Given the description of an element on the screen output the (x, y) to click on. 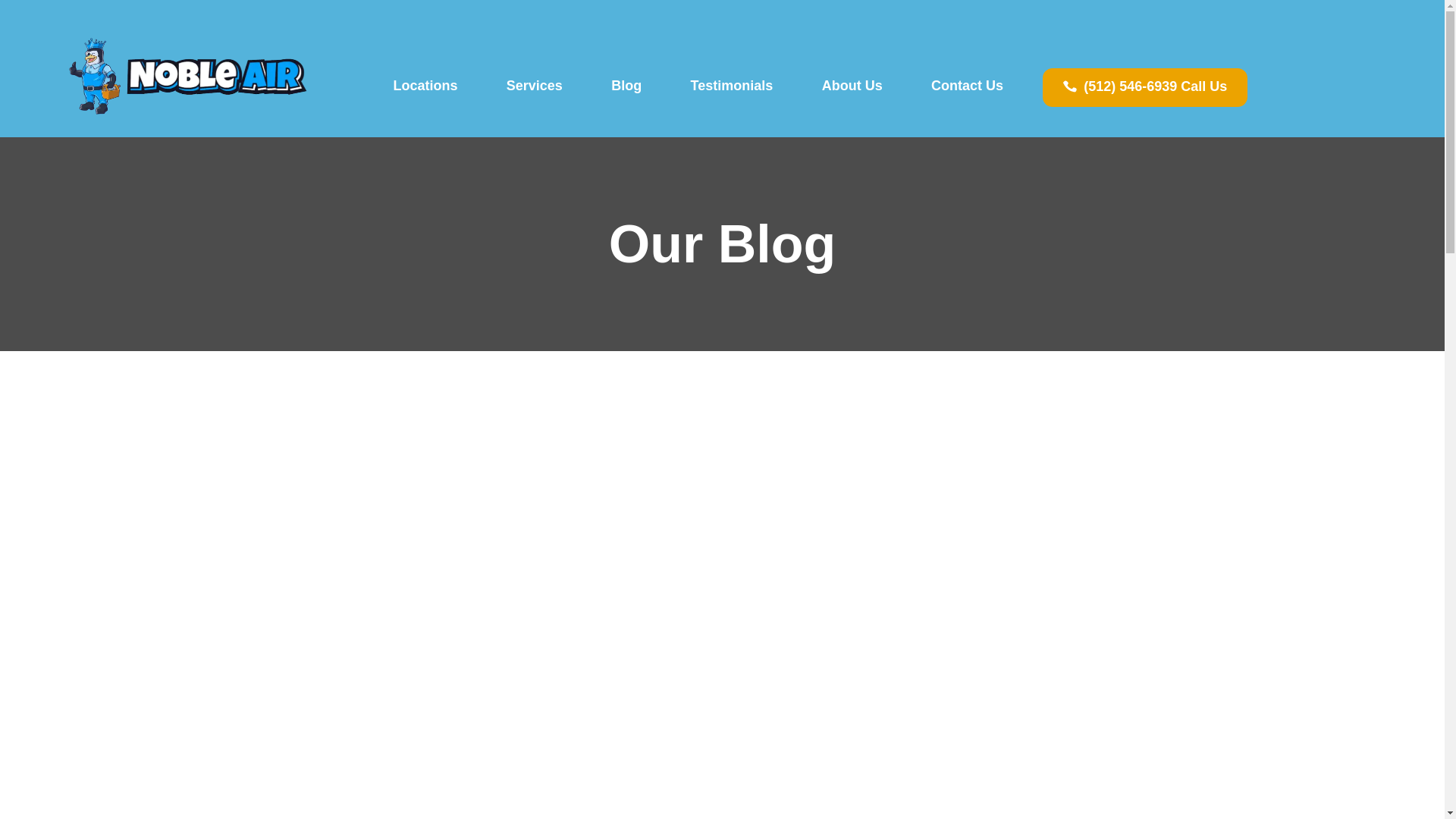
Contact Us (967, 85)
About Us (850, 85)
Services (533, 85)
Blog (625, 85)
Locations (424, 85)
Testimonials (730, 85)
